Given the description of an element on the screen output the (x, y) to click on. 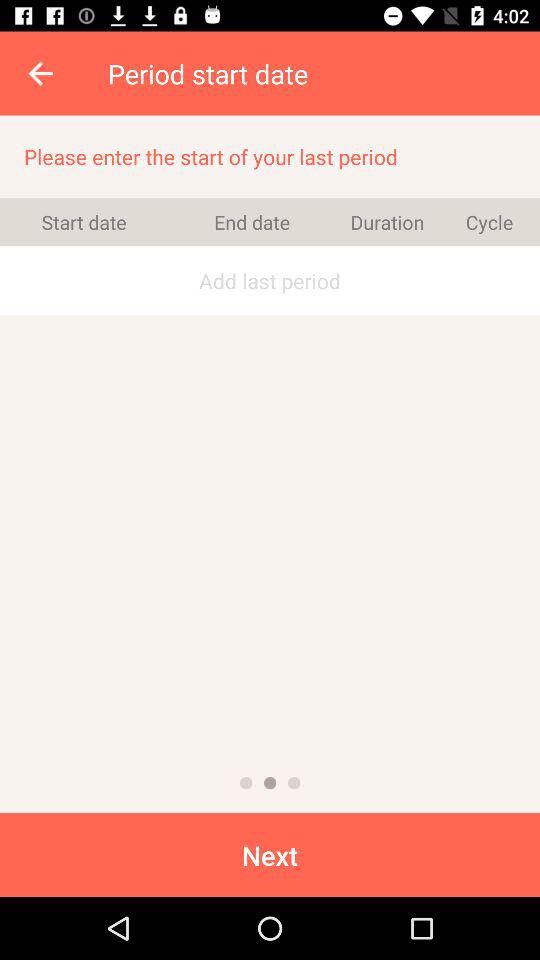
go to third page (294, 783)
